Given the description of an element on the screen output the (x, y) to click on. 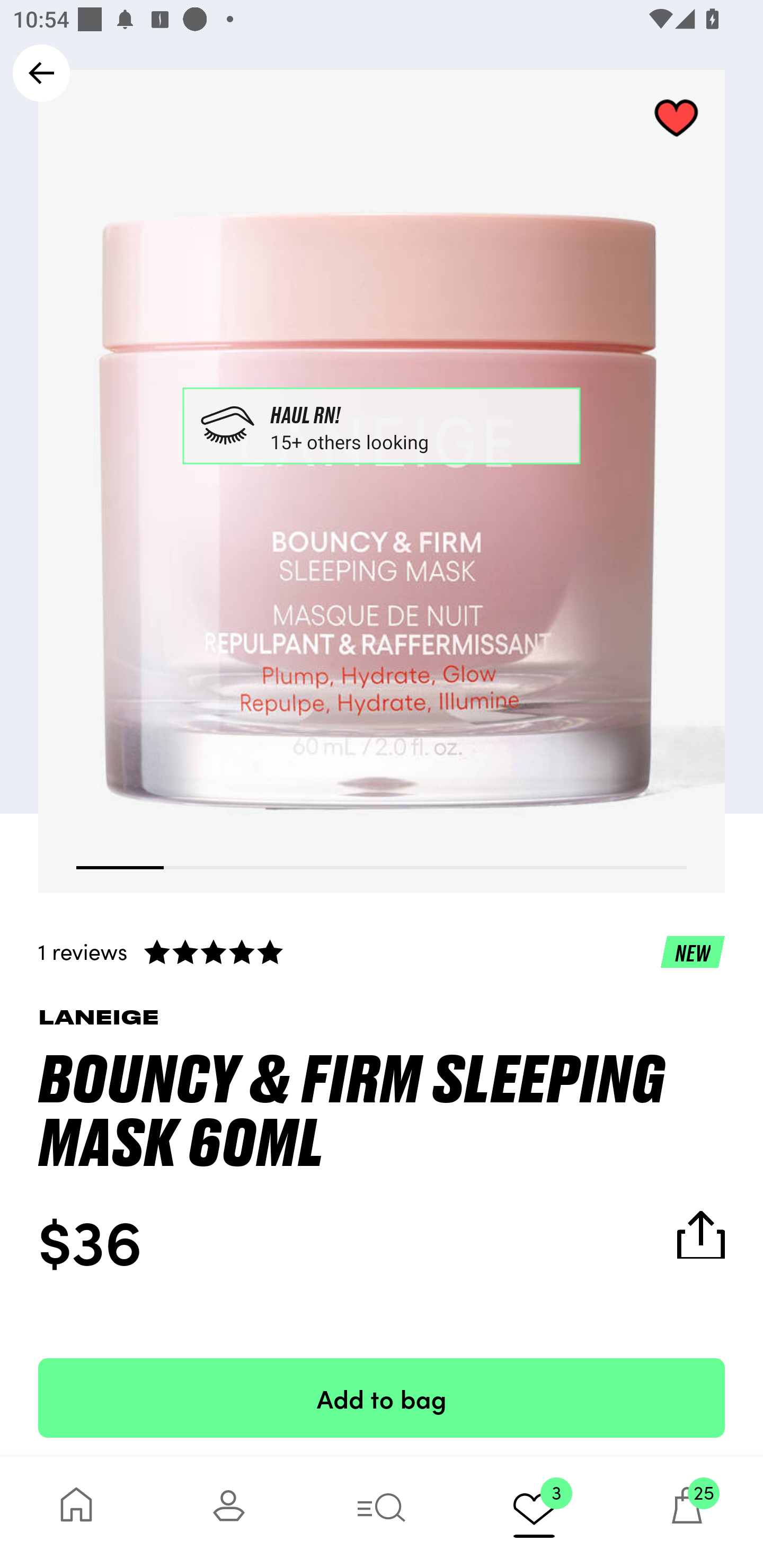
1 reviews (381, 950)
Add to bag (381, 1397)
3 (533, 1512)
25 (686, 1512)
